Given the description of an element on the screen output the (x, y) to click on. 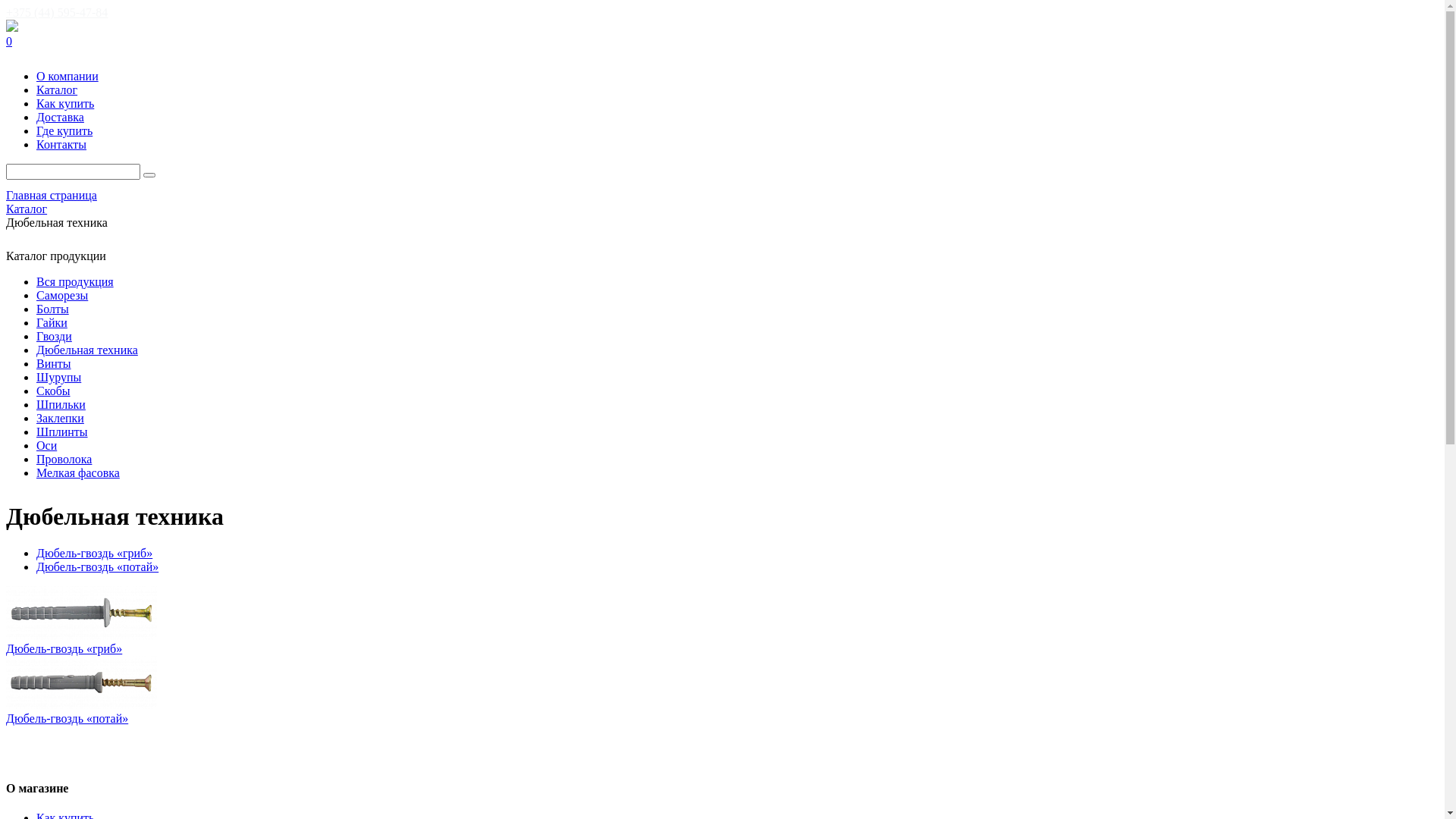
0 Element type: text (722, 41)
+375 (44) 595-47-84 Element type: text (56, 12)
